Given the description of an element on the screen output the (x, y) to click on. 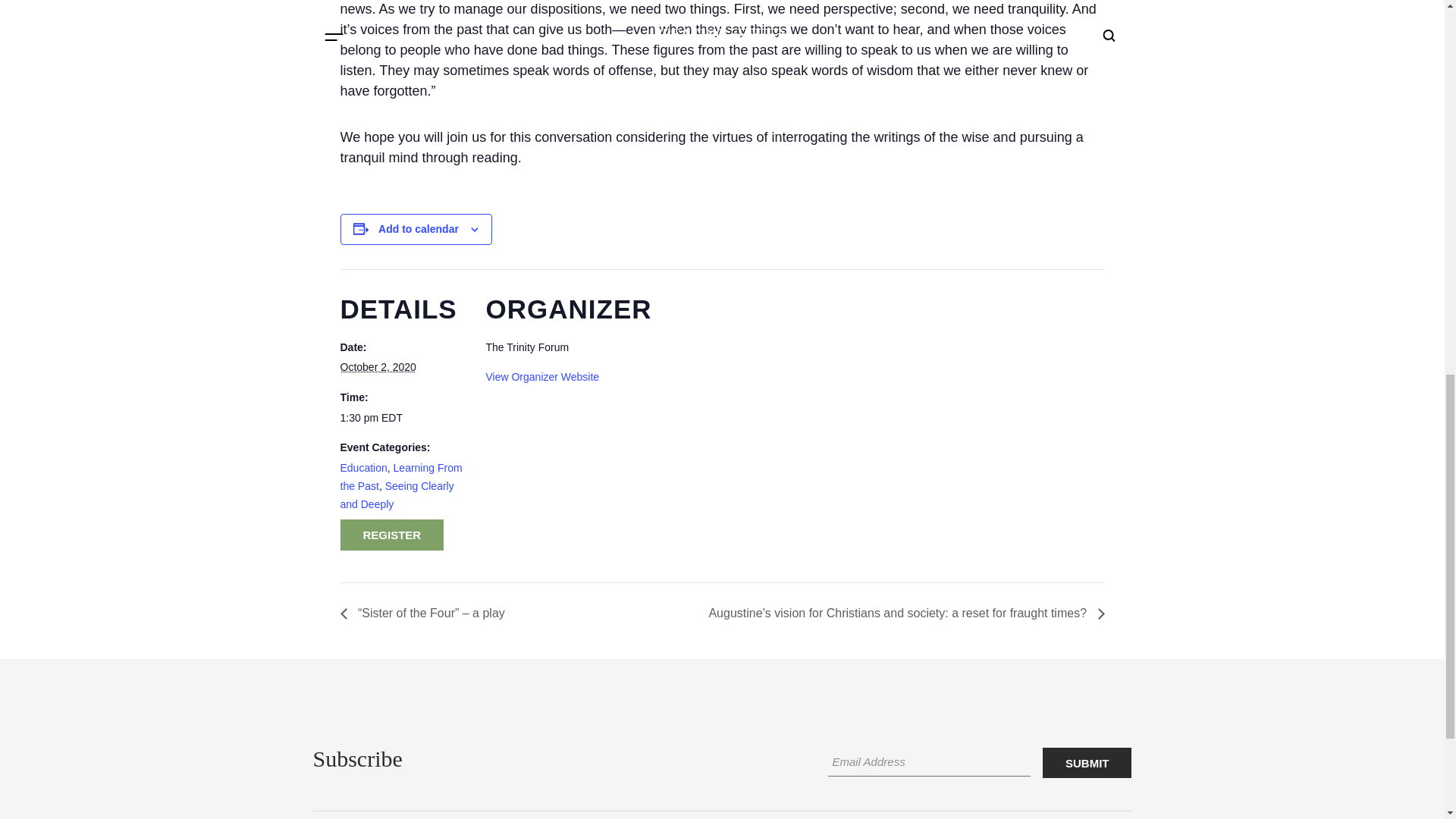
Education (363, 467)
Seeing Clearly and Deeply (395, 494)
2020-10-02 (403, 418)
Add to calendar (418, 228)
Learning From the Past (400, 476)
View Organizer Website (541, 377)
Submit (1087, 762)
REGISTER (391, 534)
Submit (1087, 762)
2020-10-02 (376, 367)
